Given the description of an element on the screen output the (x, y) to click on. 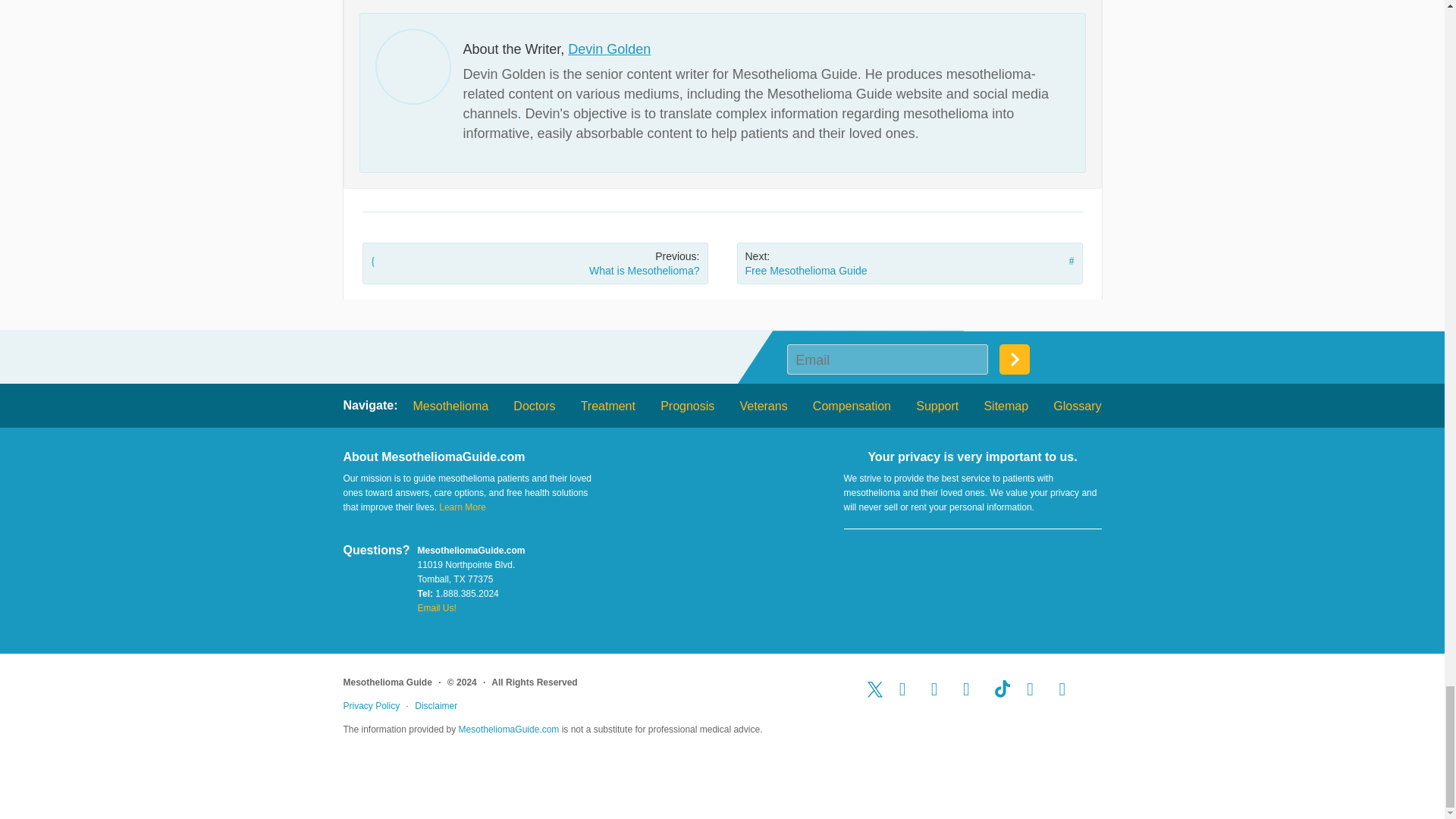
Please provide a valid email. (887, 358)
Free Mesothelioma Guide (909, 263)
Mesothelioma Guide, Health Care Referral, Orlando, FL (972, 566)
What is Mesothelioma? (534, 263)
